Given the description of an element on the screen output the (x, y) to click on. 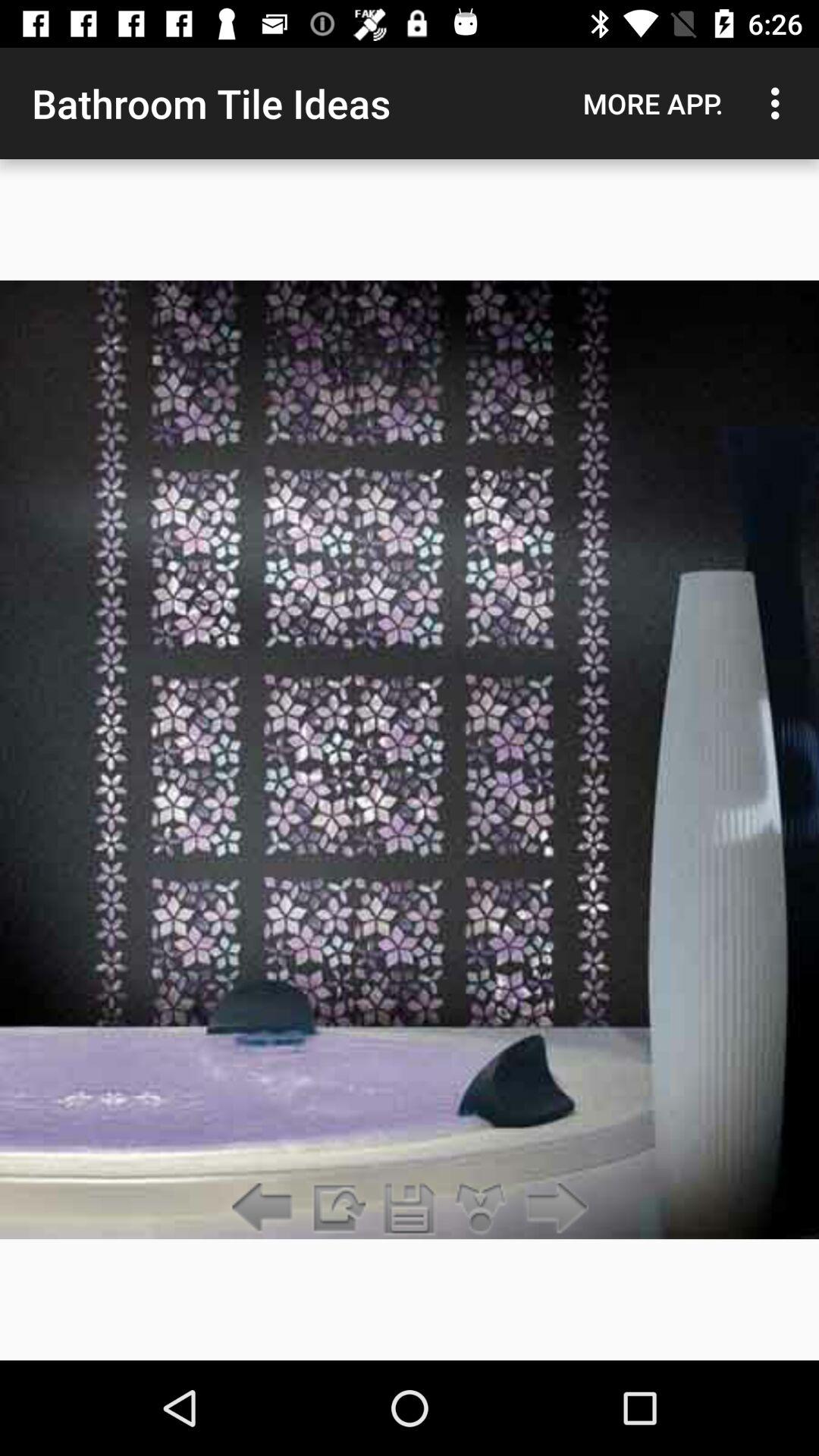
open screen and device options (337, 1208)
